Given the description of an element on the screen output the (x, y) to click on. 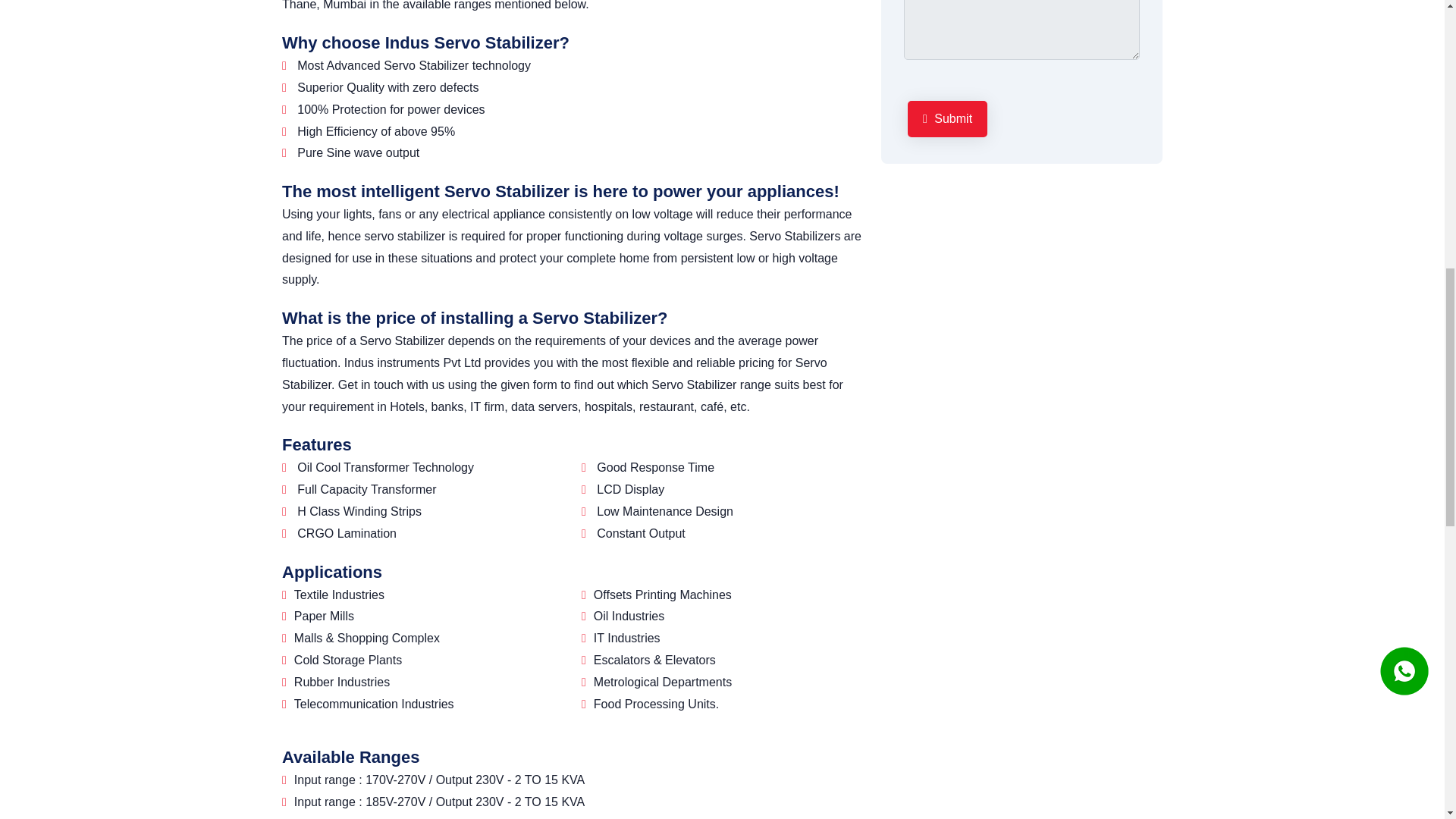
Submit (947, 119)
